Given the description of an element on the screen output the (x, y) to click on. 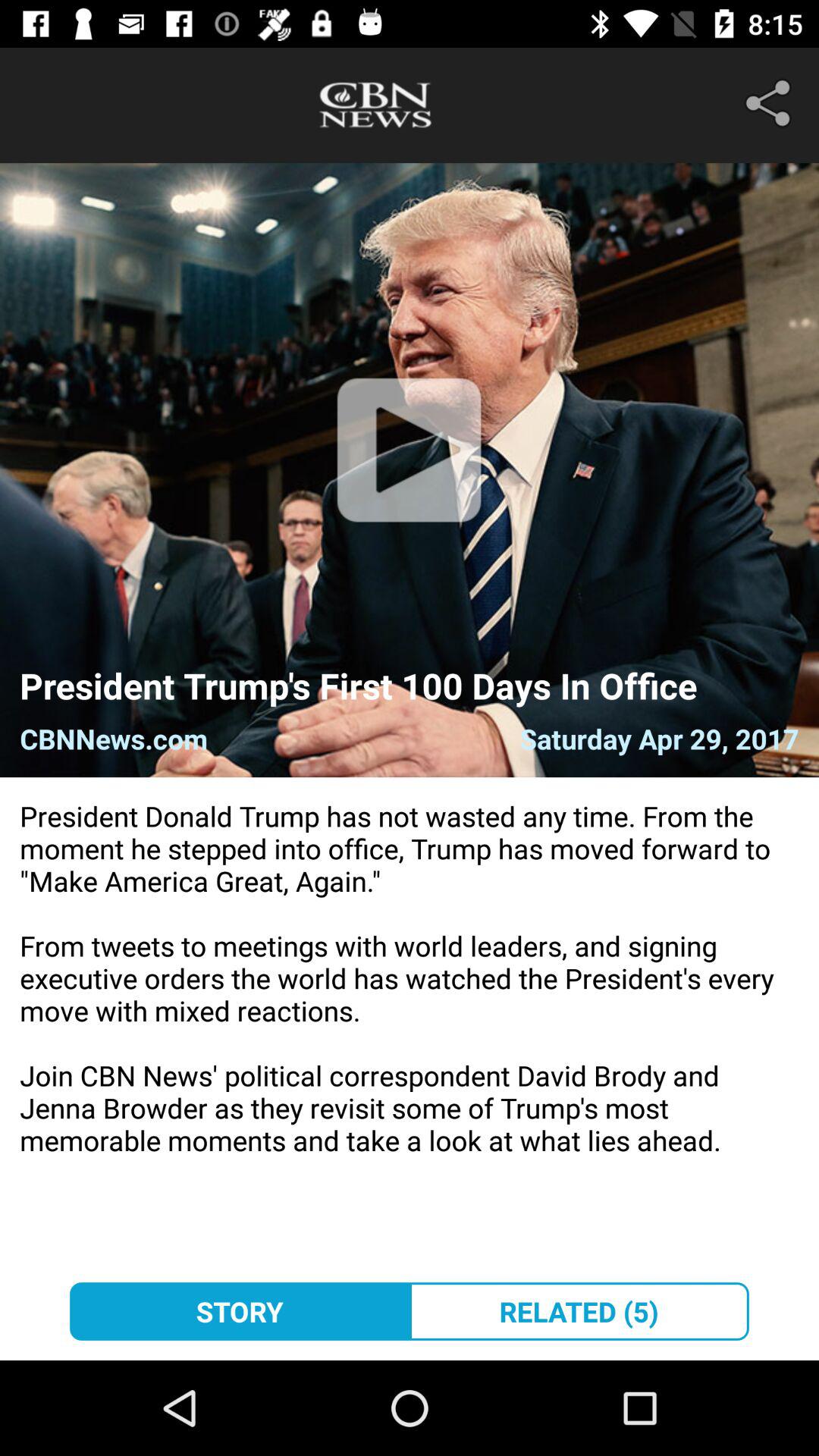
play button (409, 469)
